Given the description of an element on the screen output the (x, y) to click on. 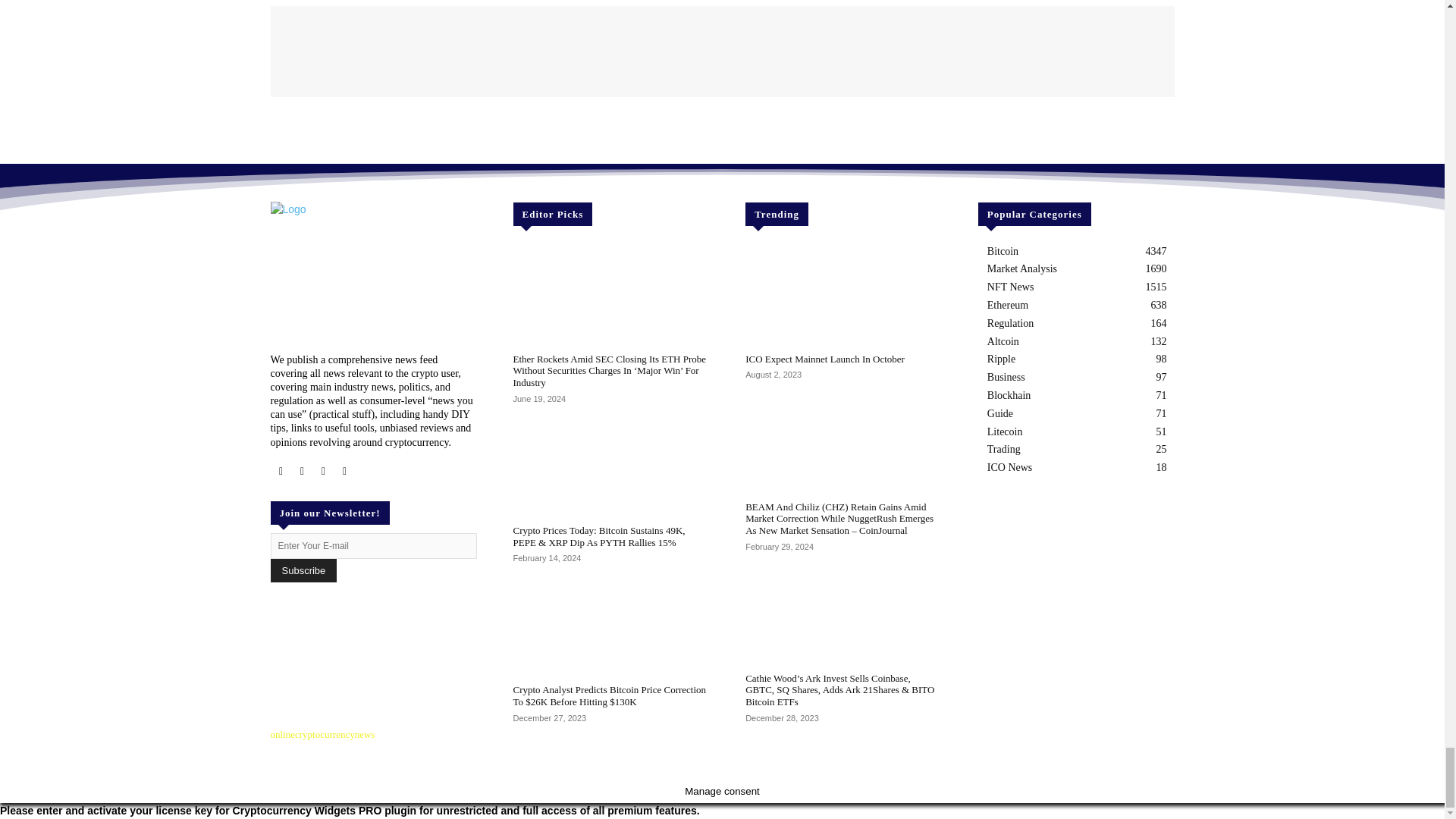
Subscribe (302, 570)
